Given the description of an element on the screen output the (x, y) to click on. 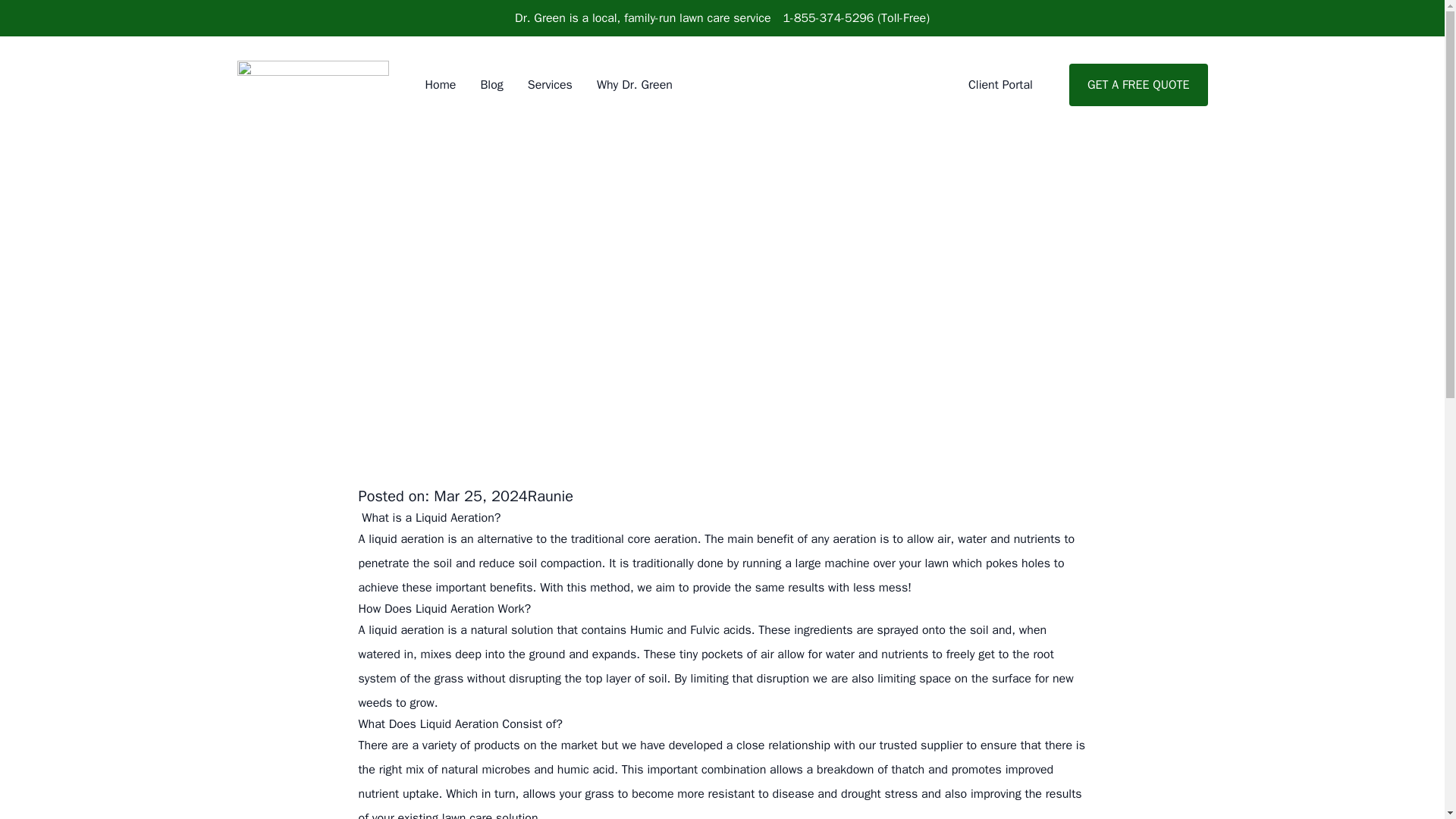
Client Portal (1000, 85)
Why Dr. Green (634, 85)
Blog (491, 85)
GET A FREE QUOTE (1138, 84)
Home (440, 85)
Read More (478, 332)
Services (549, 85)
